Given the description of an element on the screen output the (x, y) to click on. 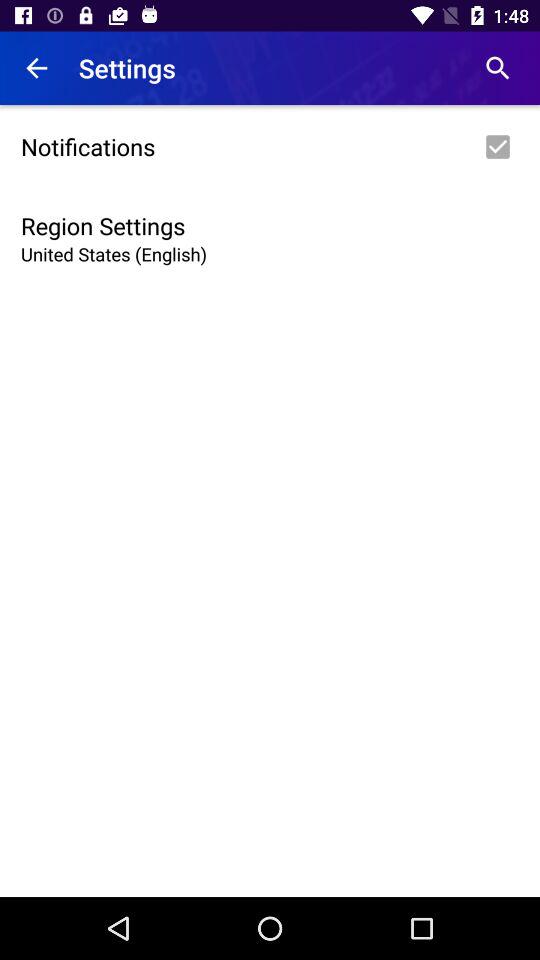
tap the icon above notifications icon (497, 67)
